Given the description of an element on the screen output the (x, y) to click on. 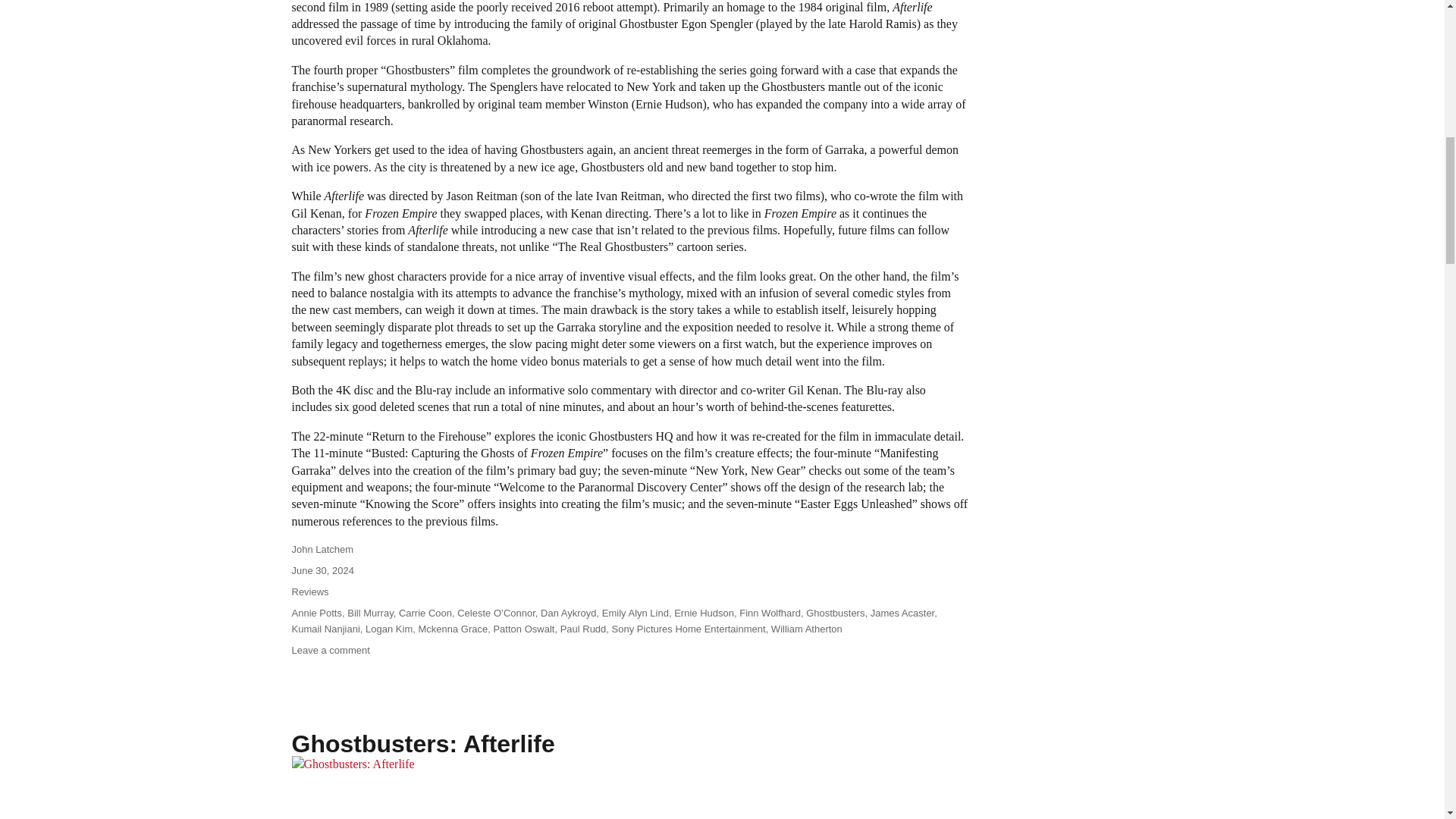
Reviews (310, 591)
John Latchem (322, 549)
June 30, 2024 (322, 570)
Annie Potts (316, 613)
